Given the description of an element on the screen output the (x, y) to click on. 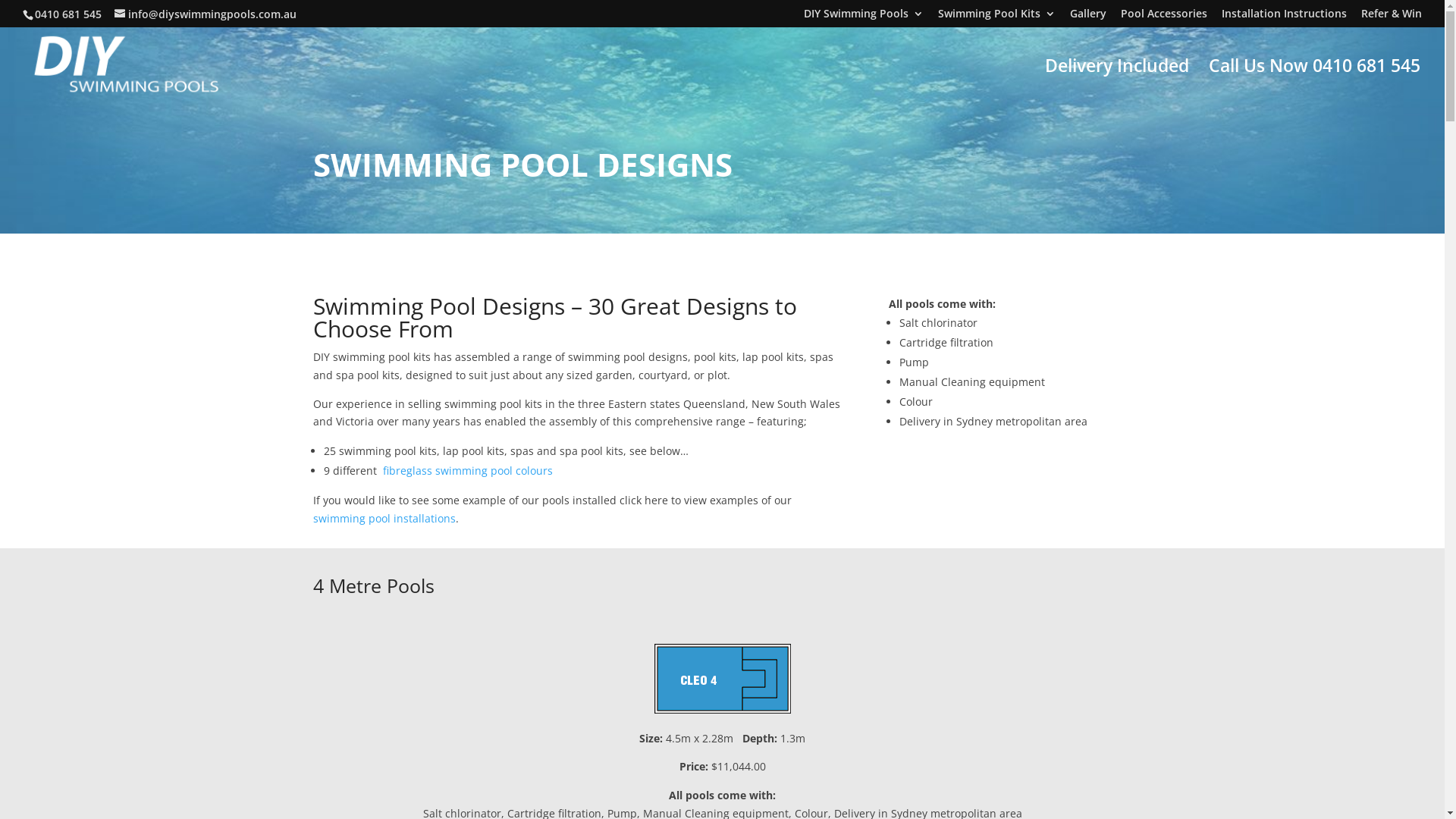
fibreglass swimming pool colours  Element type: text (468, 470)
swimming pool installations Element type: text (383, 518)
Swimming Pool Kits Element type: text (996, 16)
Refer & Win Element type: text (1391, 16)
Pool Accessories Element type: text (1163, 16)
DIY Swimming Pools Element type: text (863, 16)
Call Us Now 0410 681 545 Element type: text (1314, 81)
0410 681 545 Element type: text (67, 13)
Gallery Element type: text (1088, 16)
info@diyswimmingpools.com.au Element type: text (205, 13)
Delivery Included Element type: text (1116, 81)
Installation Instructions Element type: text (1283, 16)
